Given the description of an element on the screen output the (x, y) to click on. 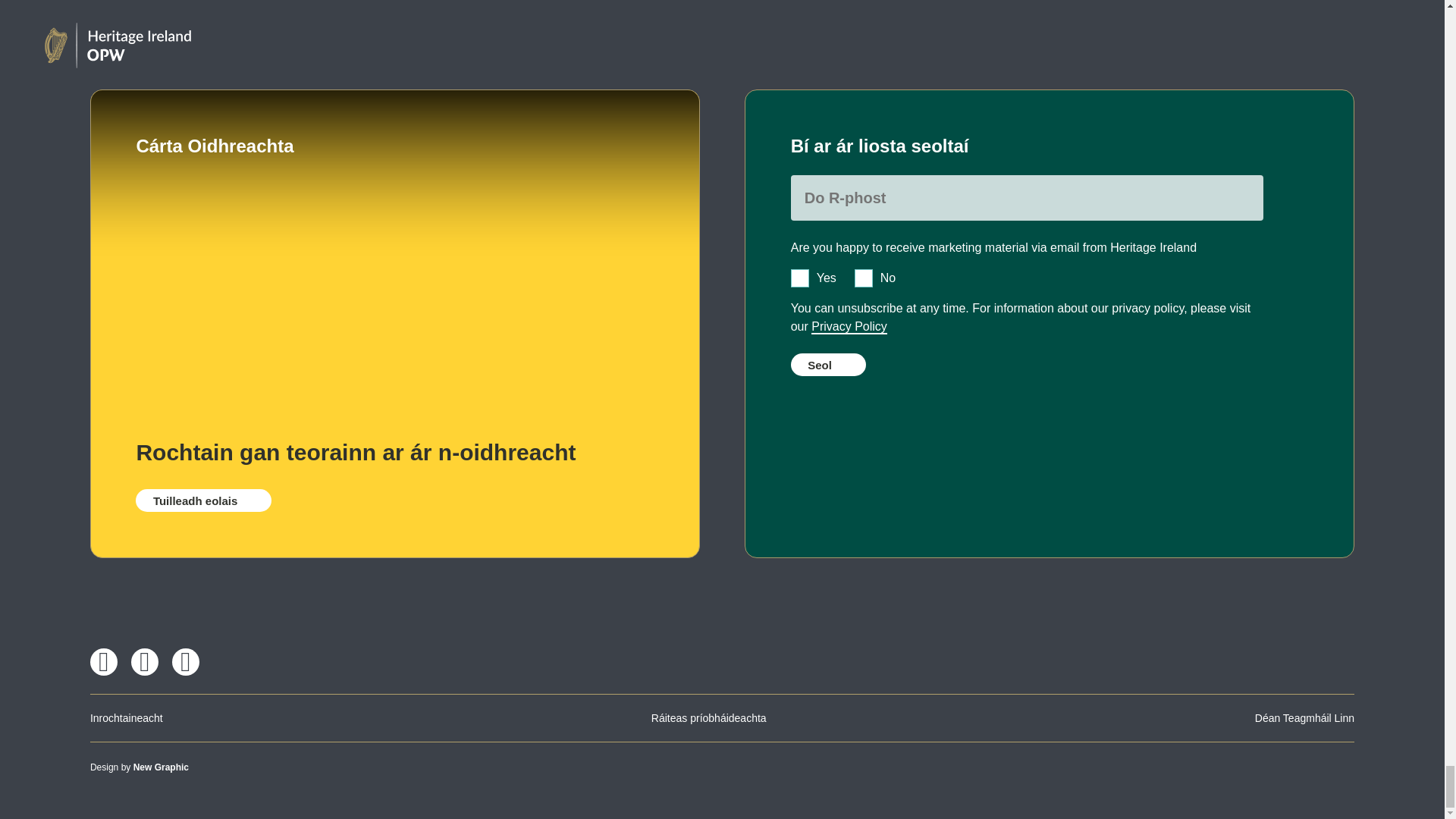
Inrochtaineacht (126, 717)
Seol (828, 363)
Privacy Policy (848, 327)
Tuilleadh eolais (202, 499)
Design by New Graphic (139, 767)
